Given the description of an element on the screen output the (x, y) to click on. 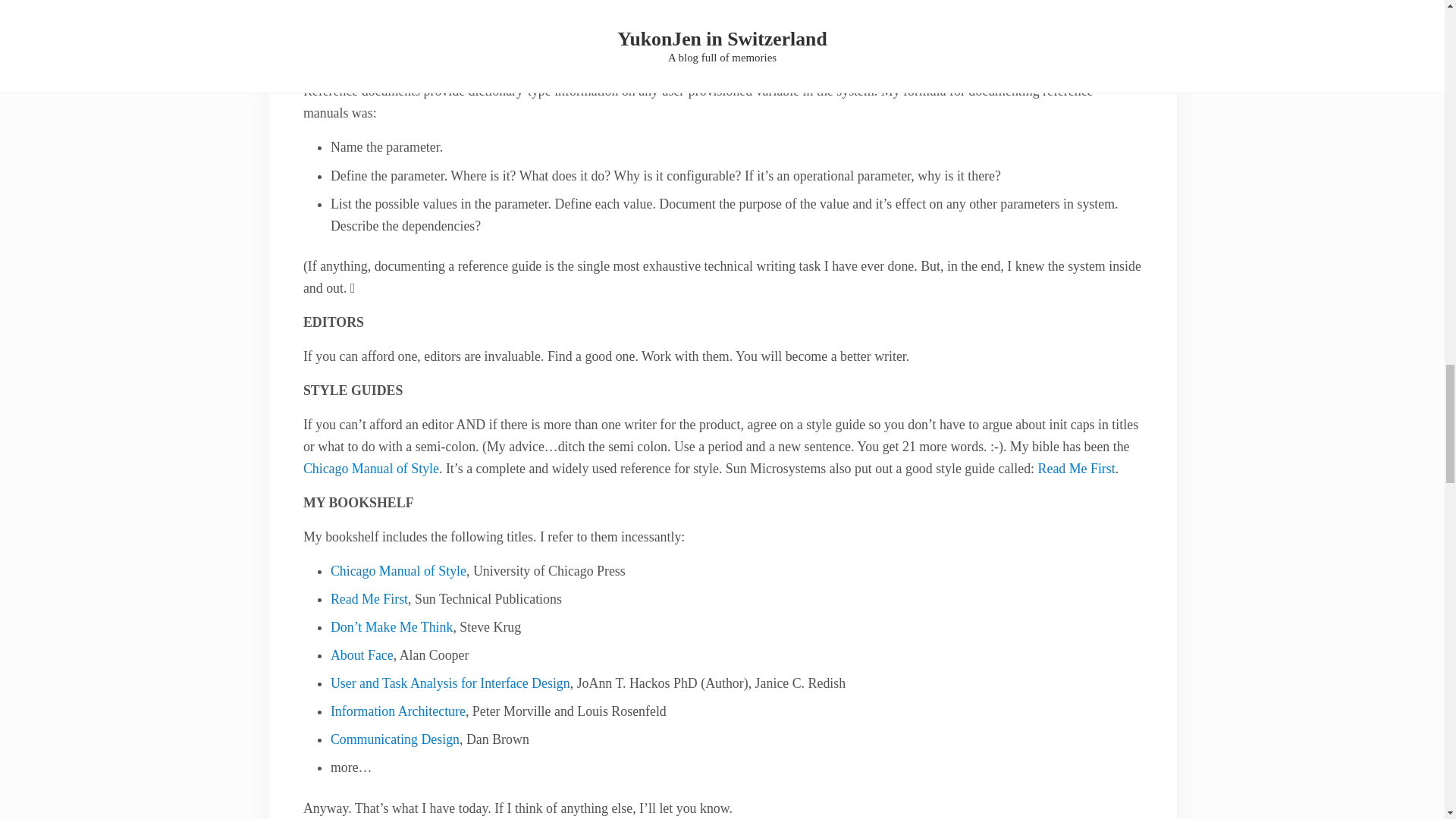
Recommended Style Guides (1076, 468)
Chicago Manual of Style (370, 468)
Read Me First (1076, 468)
Communicating Design (395, 739)
Information Architecture (397, 711)
About Face (361, 654)
Recommended Style Guides (370, 468)
Read Me First (368, 598)
User and Task Analysis for Interface Design (450, 683)
Chicago Manual of Style (397, 570)
